Given the description of an element on the screen output the (x, y) to click on. 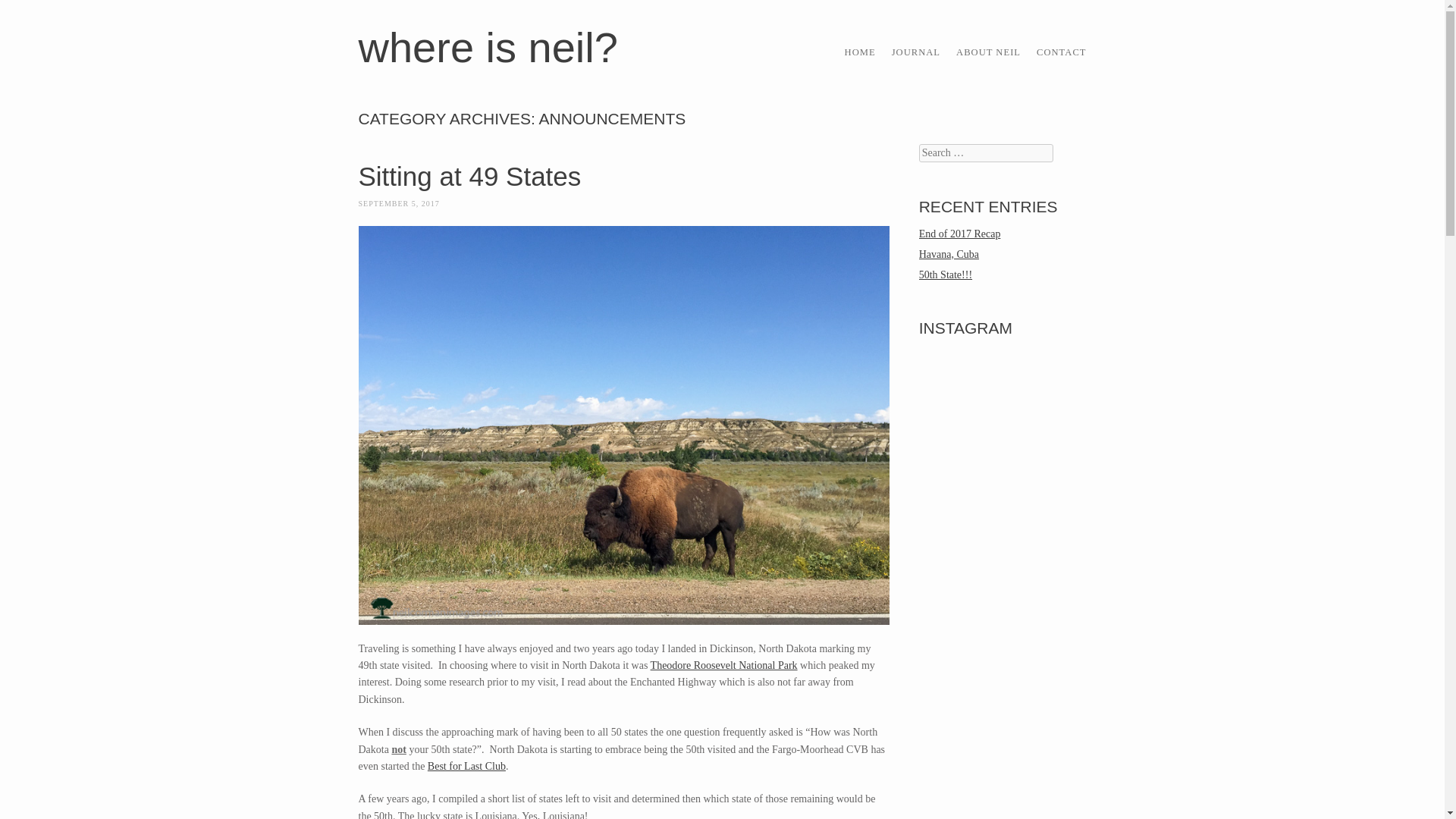
where is neil? (487, 47)
8:00 am (398, 203)
where is neil? (487, 47)
50th State!!! (945, 274)
HOME (860, 52)
Theodore Roosevelt National Park (723, 665)
SEPTEMBER 5, 2017 (398, 203)
Search (31, 17)
Sitting at 49 States (469, 175)
Best for Last Club (466, 766)
ABOUT NEIL (988, 52)
End of 2017 Recap (959, 233)
Skip to content (877, 48)
Permalink to Sitting at 49 States (469, 175)
Havana, Cuba (948, 254)
